Given the description of an element on the screen output the (x, y) to click on. 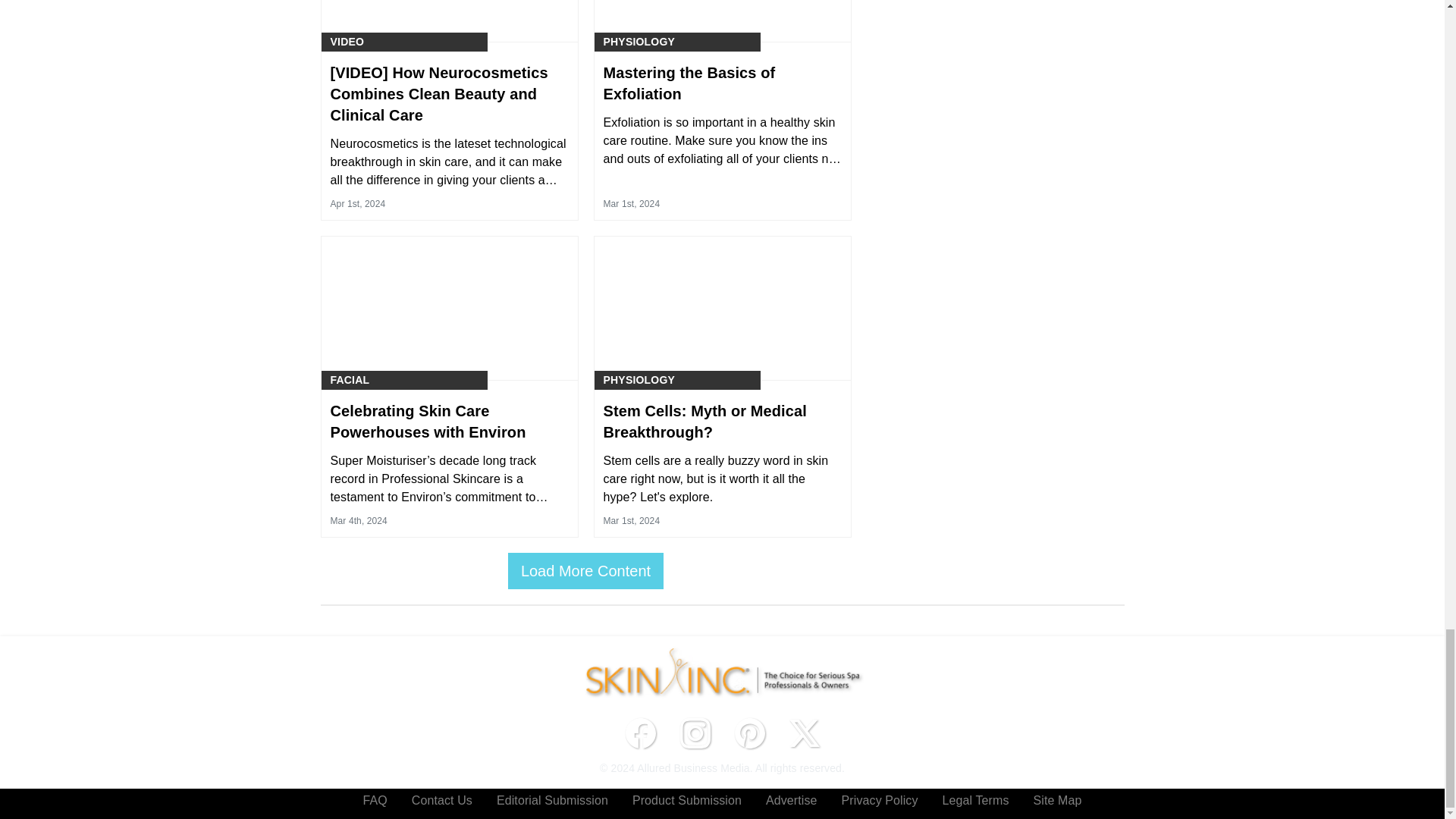
Instagram icon (694, 733)
Facebook icon (639, 733)
Twitter X icon (803, 733)
Pinterest icon (748, 733)
